Given the description of an element on the screen output the (x, y) to click on. 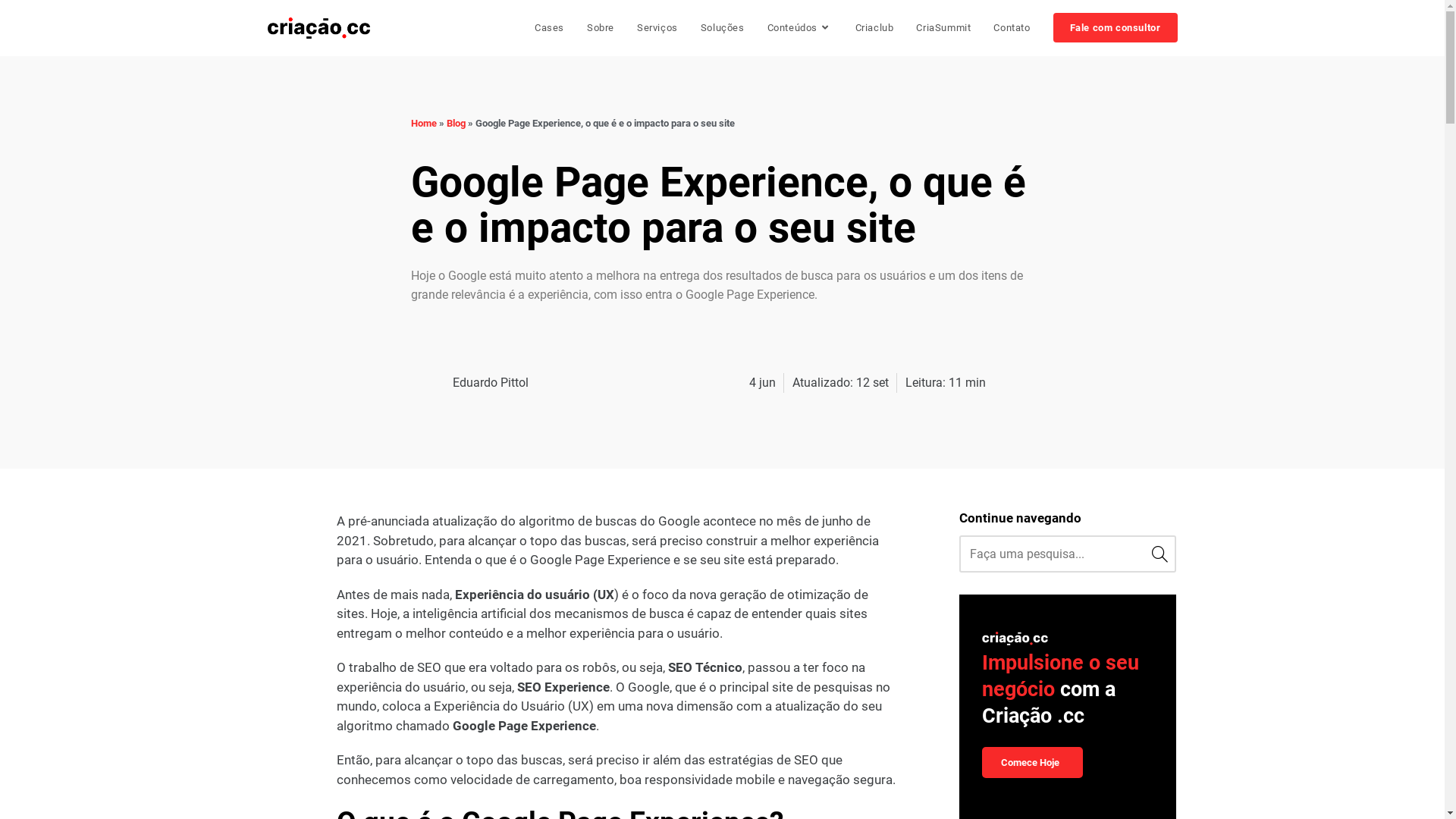
Cases Element type: text (549, 28)
Home Element type: text (423, 122)
Contato Element type: text (1011, 28)
Eduardo Pittol Element type: text (469, 382)
Blog Element type: text (454, 122)
Fale com consultor Element type: text (1115, 28)
Criaclub Element type: text (874, 28)
Comece Hoje Element type: text (1032, 762)
CriaSummit Element type: text (943, 28)
Sobre Element type: text (600, 28)
